Given the description of an element on the screen output the (x, y) to click on. 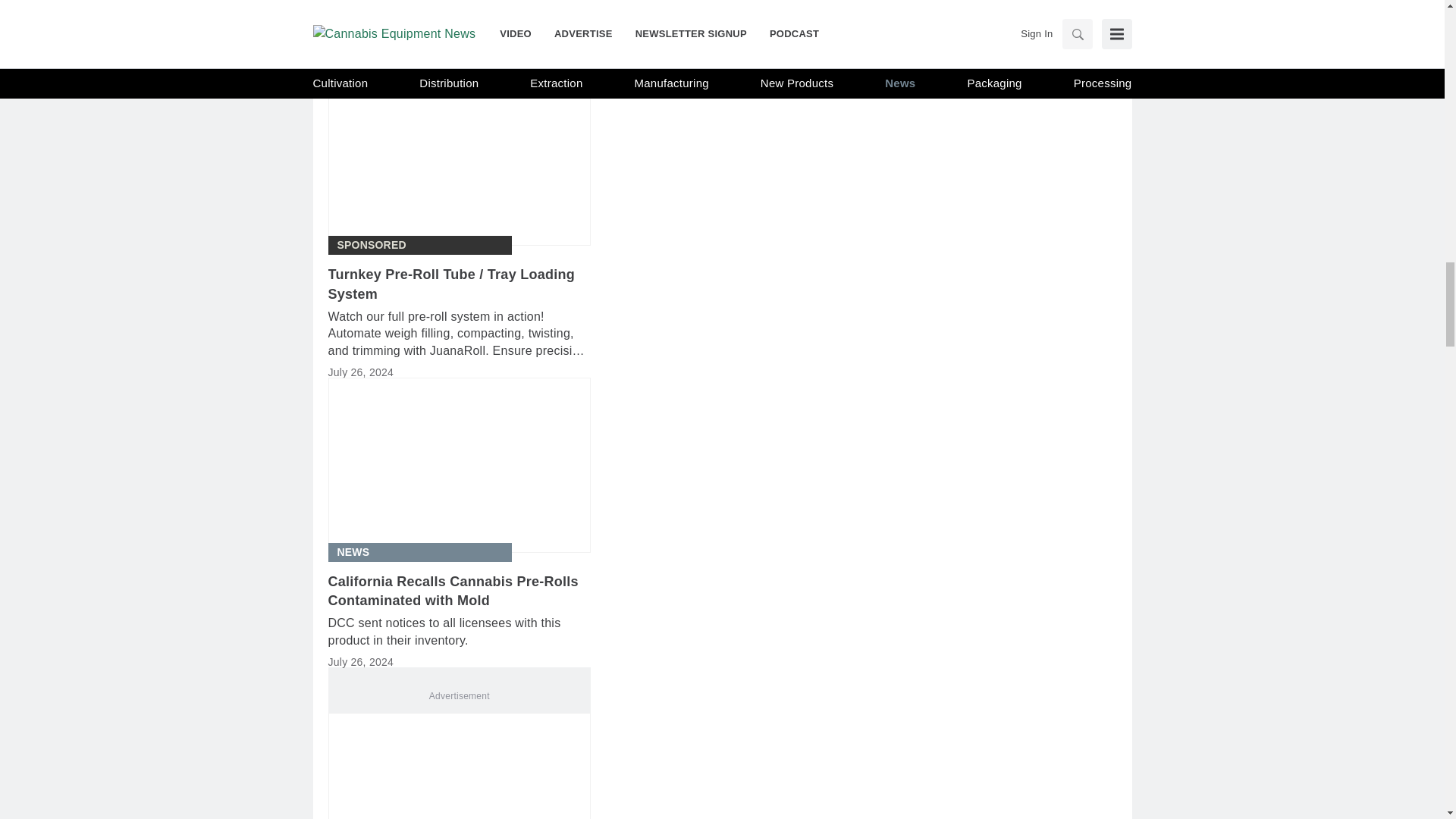
News (352, 552)
Sponsored (371, 245)
